Given the description of an element on the screen output the (x, y) to click on. 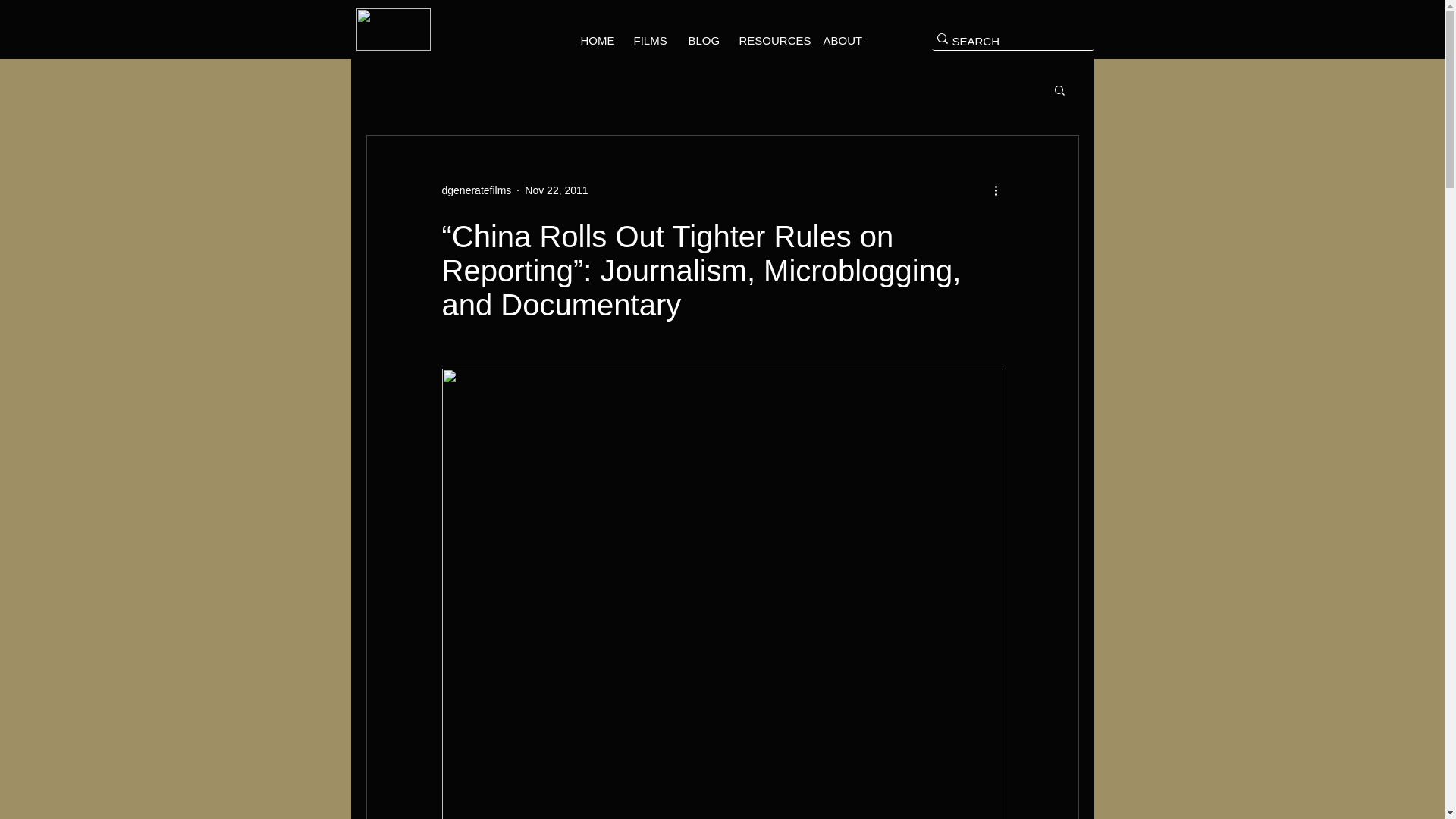
HOME (595, 40)
BLOG (701, 40)
dgeneratefilms (476, 189)
RESOURCES (768, 40)
Nov 22, 2011 (556, 189)
dGF Logo-white.png (393, 29)
